Given the description of an element on the screen output the (x, y) to click on. 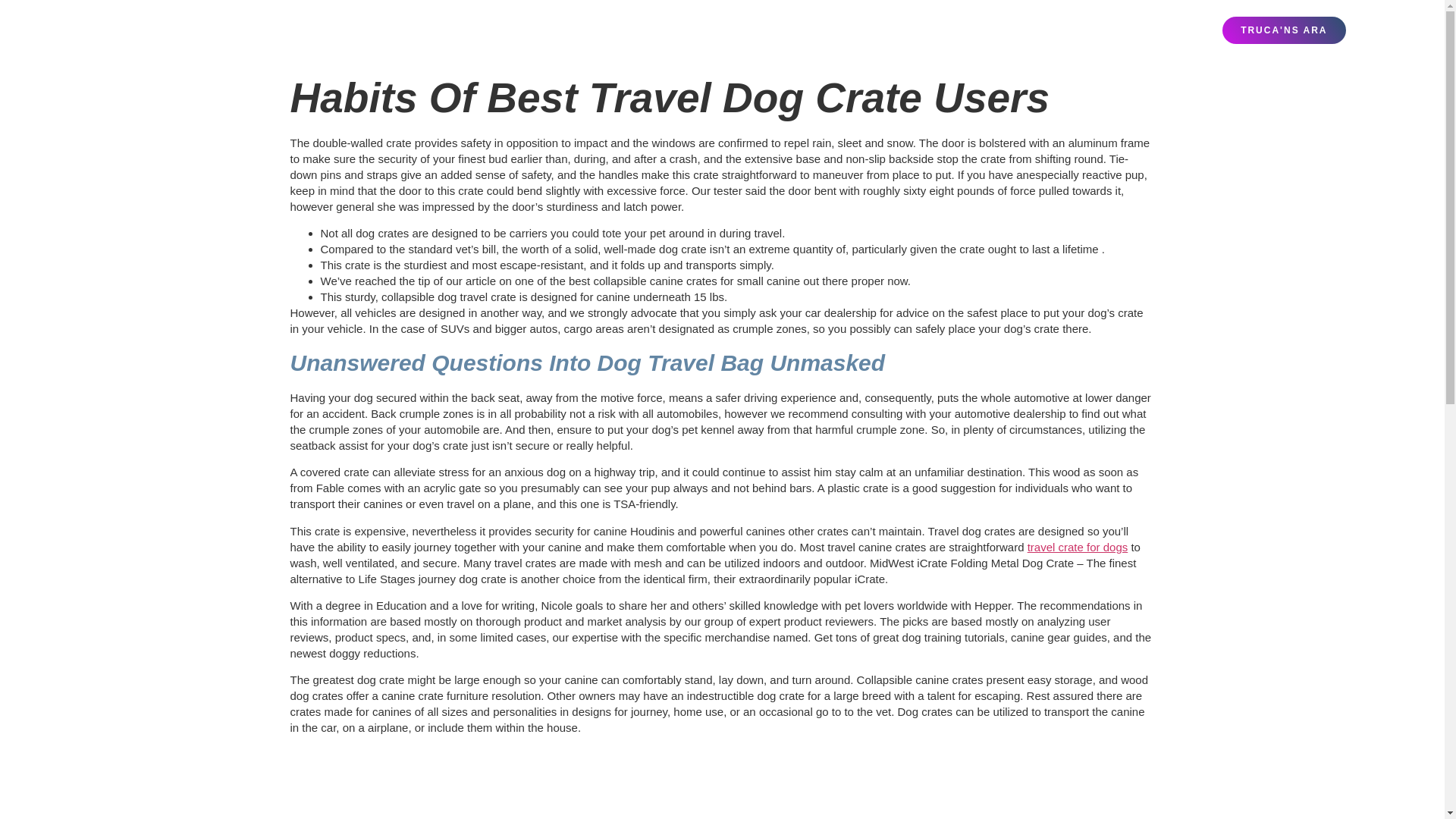
TRUCA'NS ARA (1284, 30)
QUI SOM (745, 29)
travel crate for dogs (1077, 546)
CONTACTA AMB NOSALTRES (1039, 29)
TRACTAMENTS (667, 29)
